Given the description of an element on the screen output the (x, y) to click on. 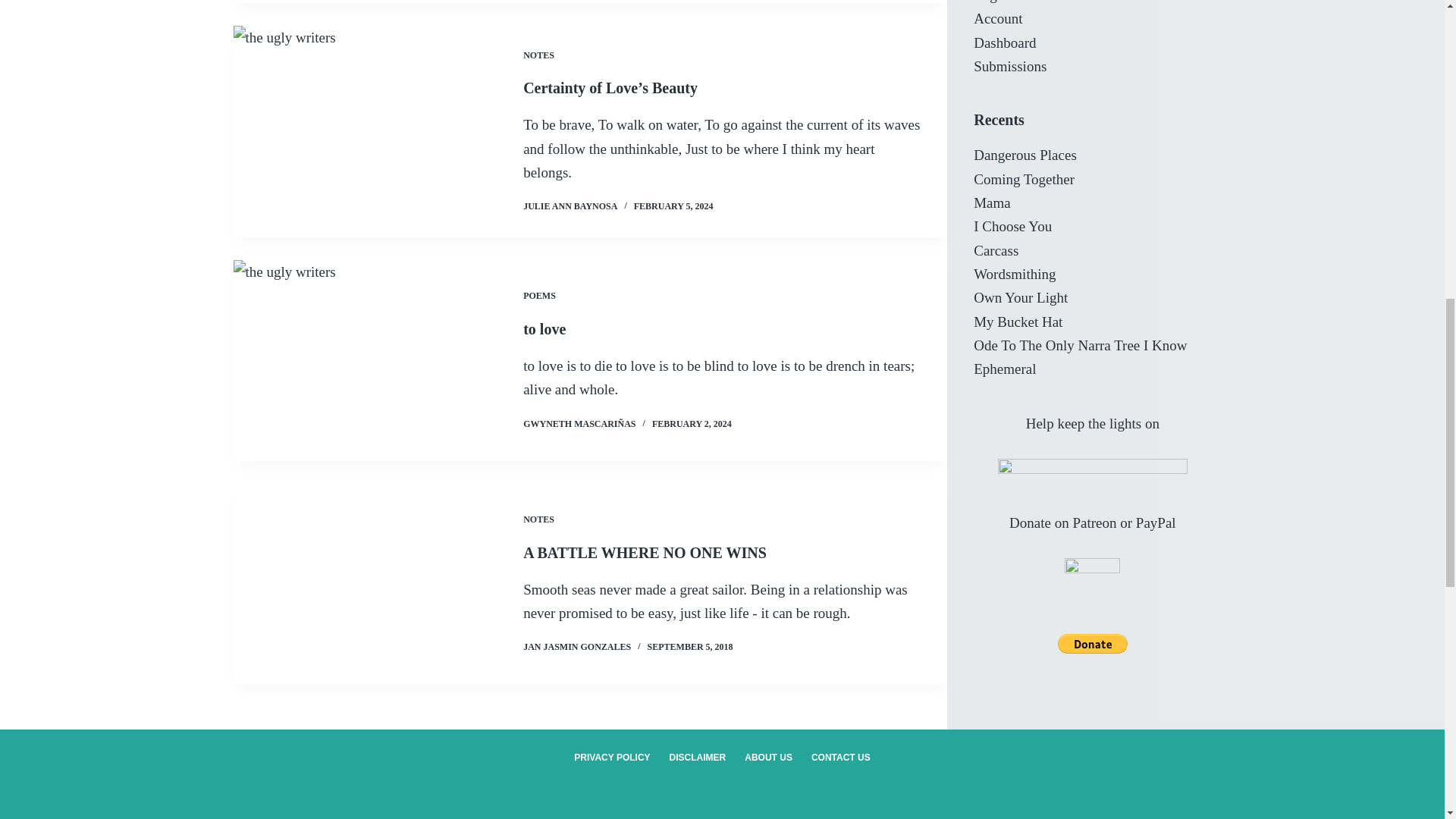
Posts by Julie Ann Baynosa (569, 205)
PayPal - The safer, easier way to pay online! (1092, 15)
Posts by Jan Jasmin Gonzales (576, 646)
